Given the description of an element on the screen output the (x, y) to click on. 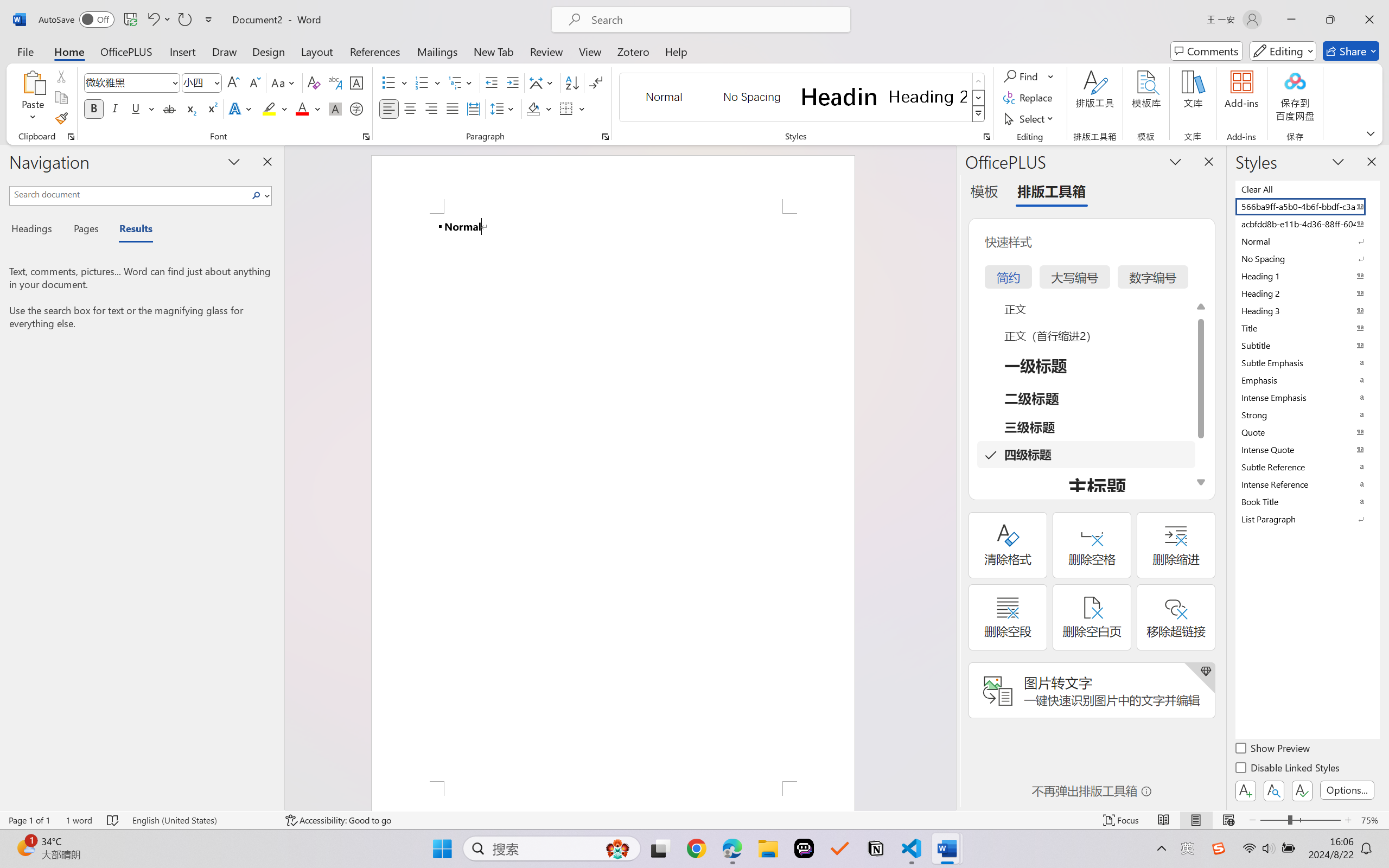
Bullets (395, 82)
Clear Formatting (313, 82)
